Given the description of an element on the screen output the (x, y) to click on. 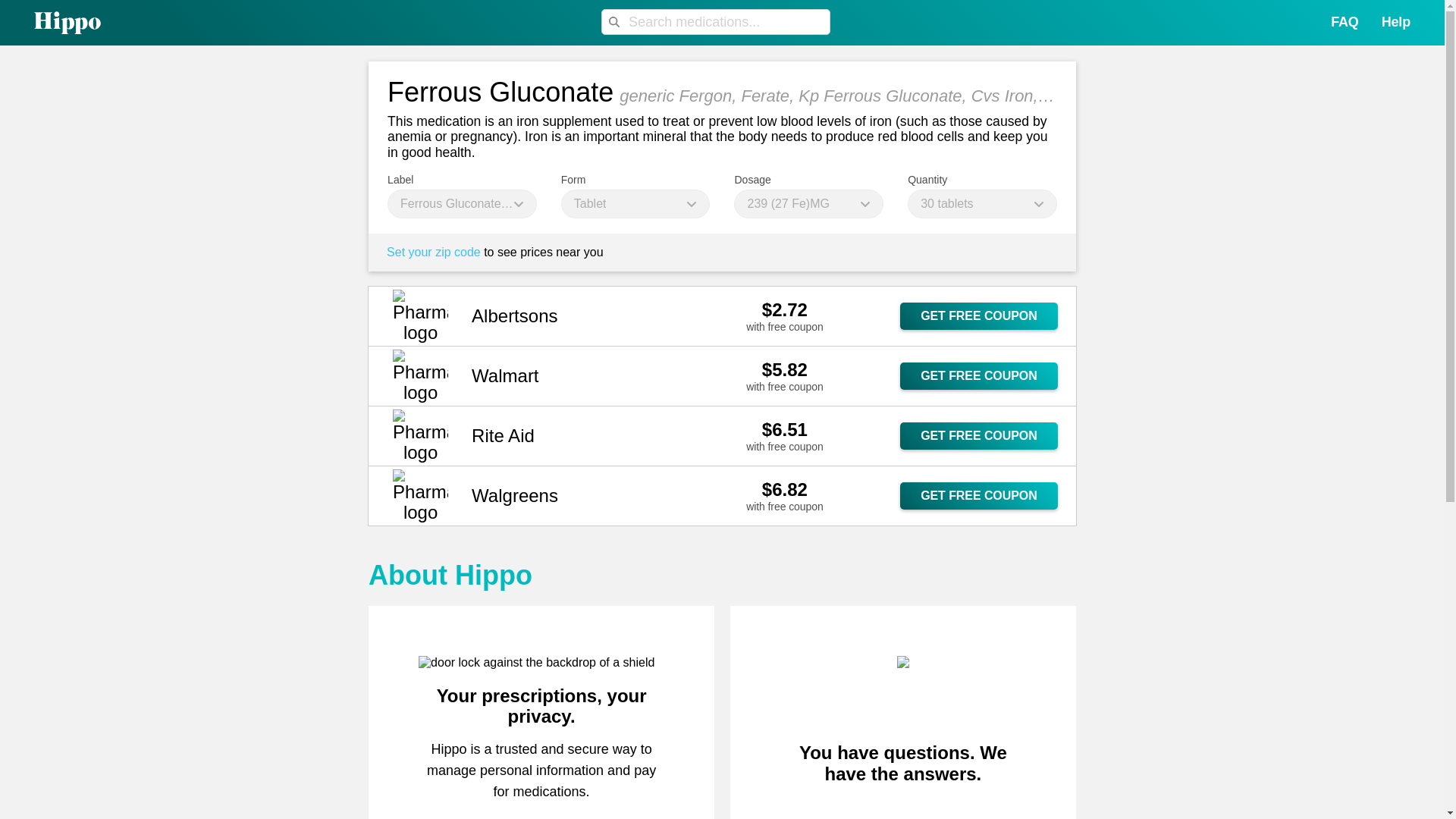
Help (1395, 21)
30 tablets (982, 203)
Back to the homepage (50, 22)
Tablet (635, 203)
Set your zip code (433, 252)
FAQ (1344, 21)
